Given the description of an element on the screen output the (x, y) to click on. 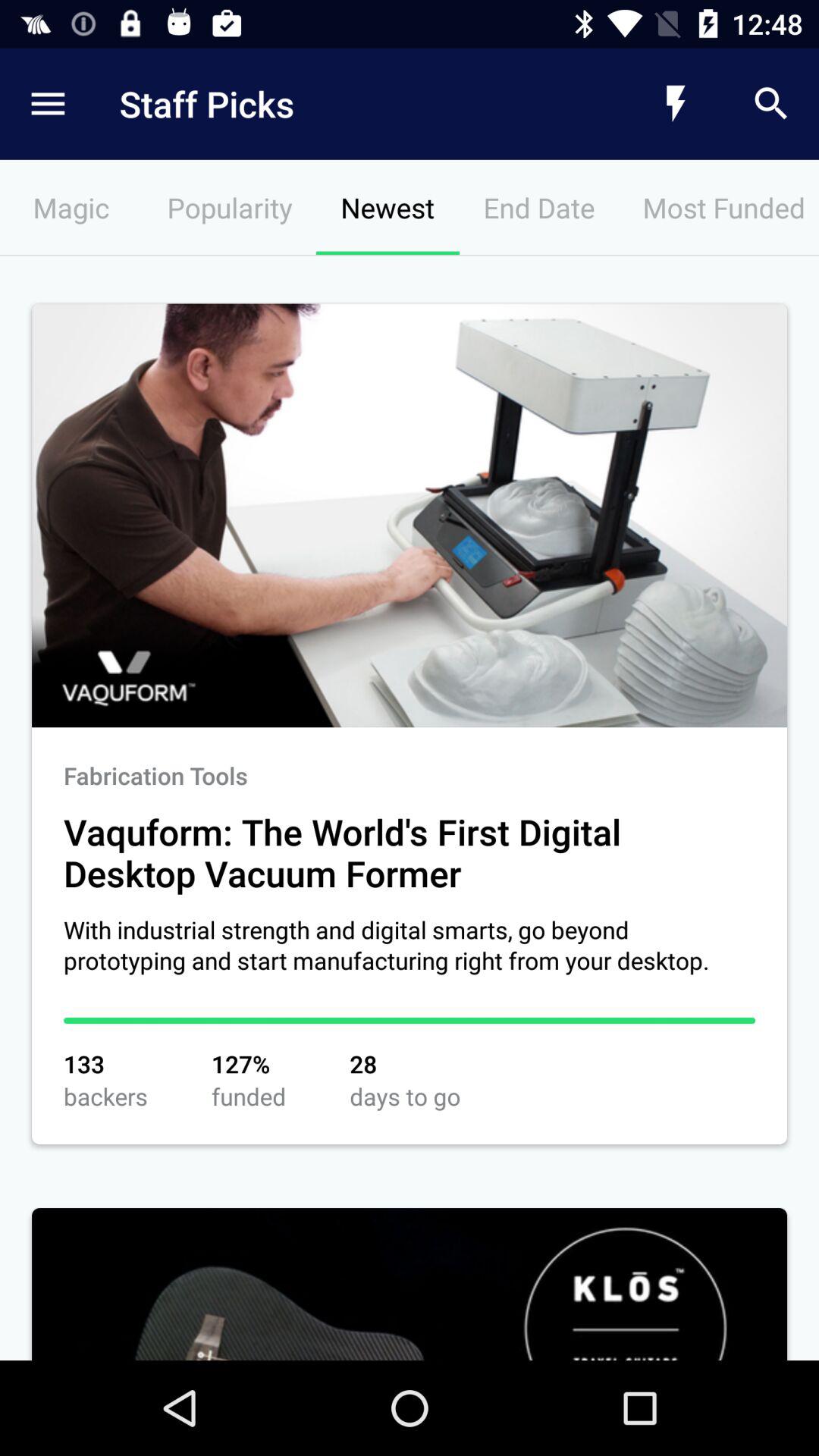
choose the item above magic (345, 103)
